Given the description of an element on the screen output the (x, y) to click on. 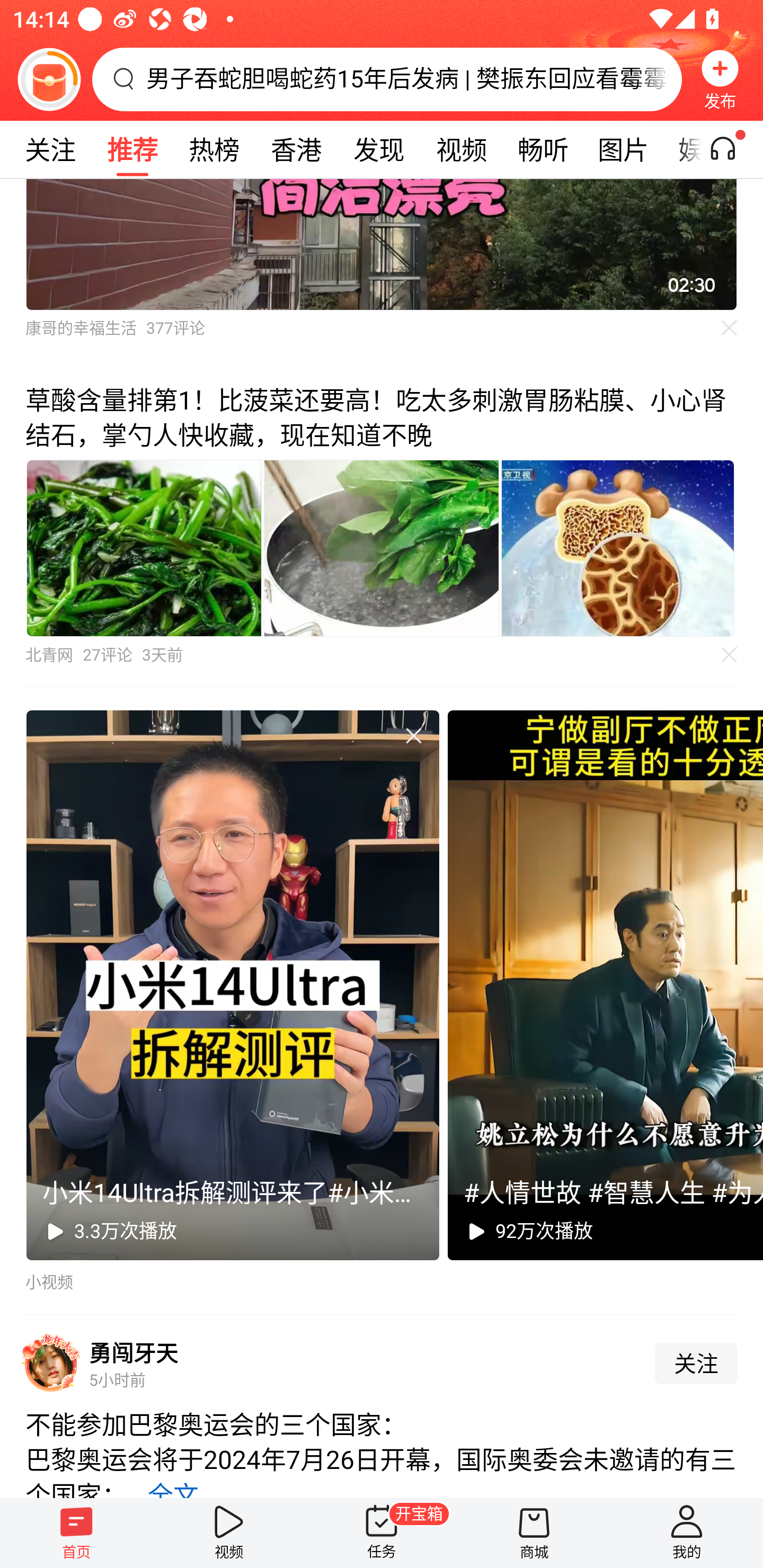
阅读赚金币 (48, 79)
发布 发布，按钮 (720, 78)
关注 (50, 149)
推荐 (132, 149)
热榜 (213, 149)
香港 (295, 149)
发现 (378, 149)
视频 (461, 149)
畅听 (542, 149)
图片 (623, 149)
听一听开关 (732, 149)
视频播放器，双击屏幕打开播放控制 (381, 244)
不感兴趣 (729, 327)
内容图片 (143, 548)
内容图片 (381, 548)
内容图片 (617, 548)
不感兴趣 (729, 654)
不感兴趣 (413, 734)
勇闯牙天 (133, 1352)
勇闯牙天头像 (50, 1363)
关注 (695, 1363)
首页 (76, 1532)
视频 (228, 1532)
任务 开宝箱 (381, 1532)
商城 (533, 1532)
我的 (686, 1532)
